Given the description of an element on the screen output the (x, y) to click on. 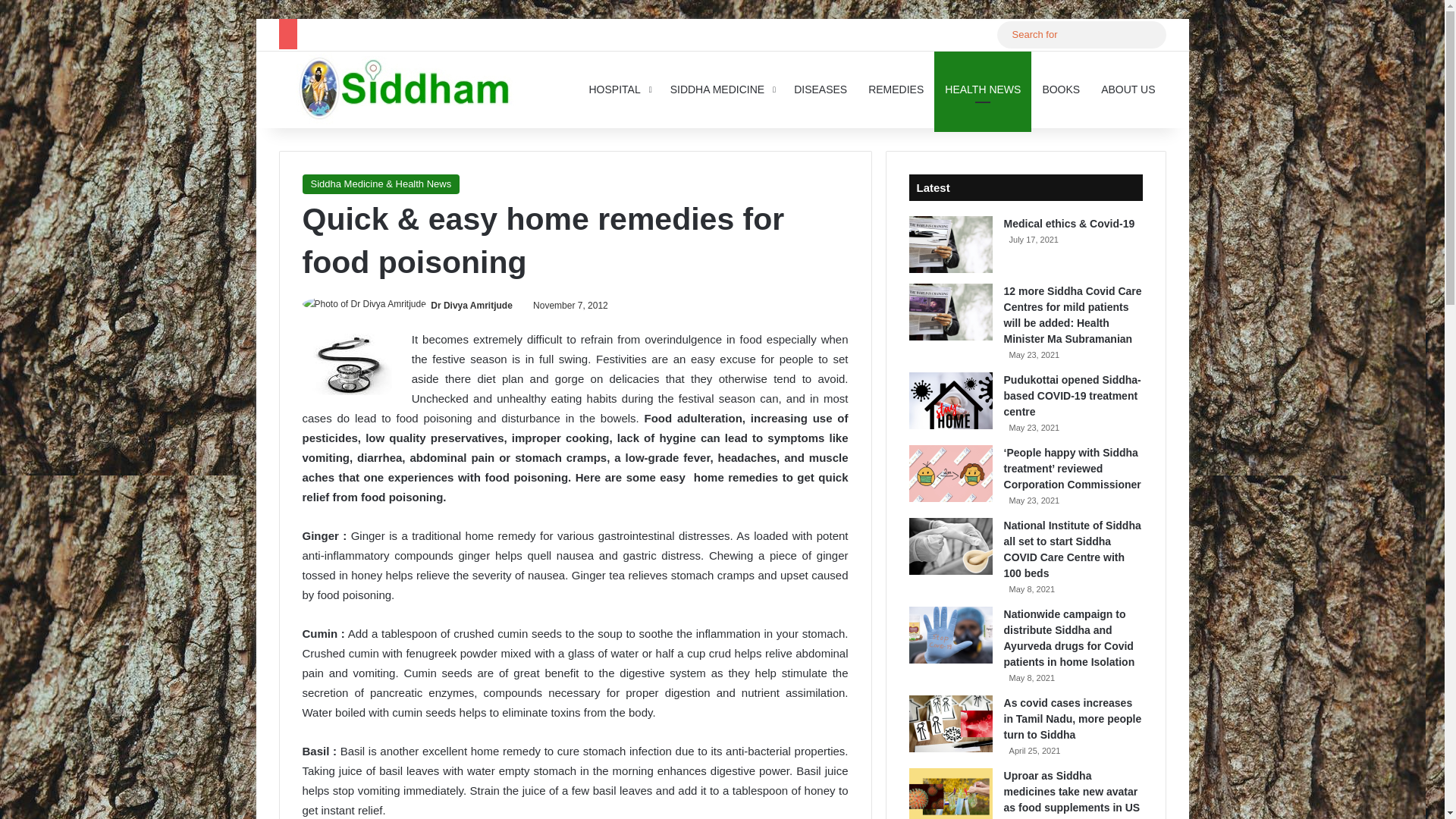
Search for (1080, 34)
Dr Divya Amritjude (471, 305)
ABOUT US (1128, 88)
SIDDHA MEDICINE (721, 88)
REMEDIES (895, 88)
doctors (346, 363)
Search for (1150, 34)
HEALTH NEWS (982, 88)
Dr Divya Amritjude (471, 305)
DISEASES (820, 88)
HOSPITAL (618, 88)
